Given the description of an element on the screen output the (x, y) to click on. 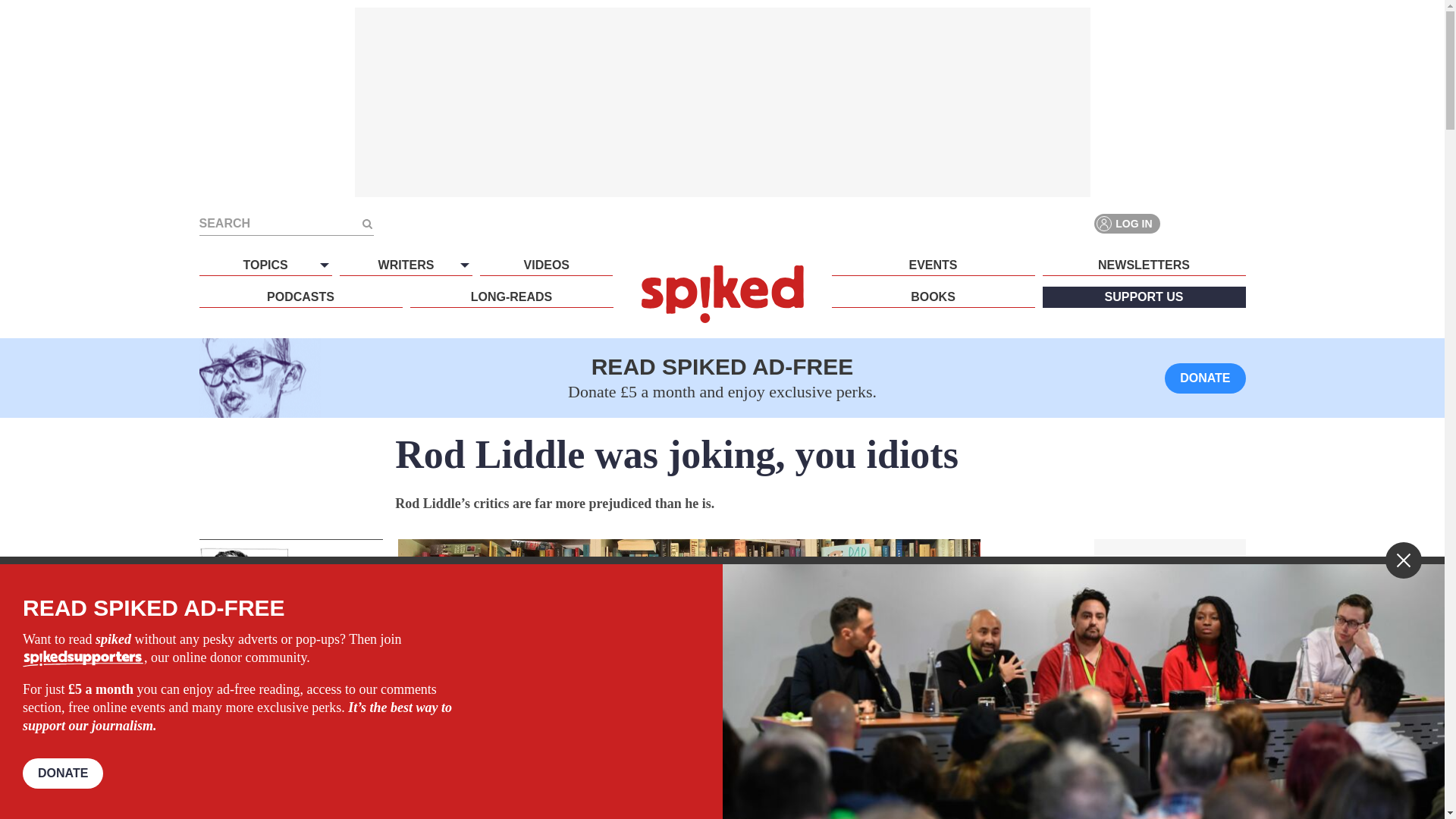
WRITERS (405, 265)
VIDEOS (546, 265)
PODCASTS (299, 296)
TOPICS (264, 265)
LONG-READS (510, 296)
LOG IN (1126, 223)
spiked - humanity is underrated (722, 293)
Twitter (1207, 223)
BOOKS (932, 296)
YouTube (1234, 223)
NEWSLETTERS (1143, 265)
Facebook (1180, 223)
EVENTS (932, 265)
SUPPORT US (1143, 296)
